Given the description of an element on the screen output the (x, y) to click on. 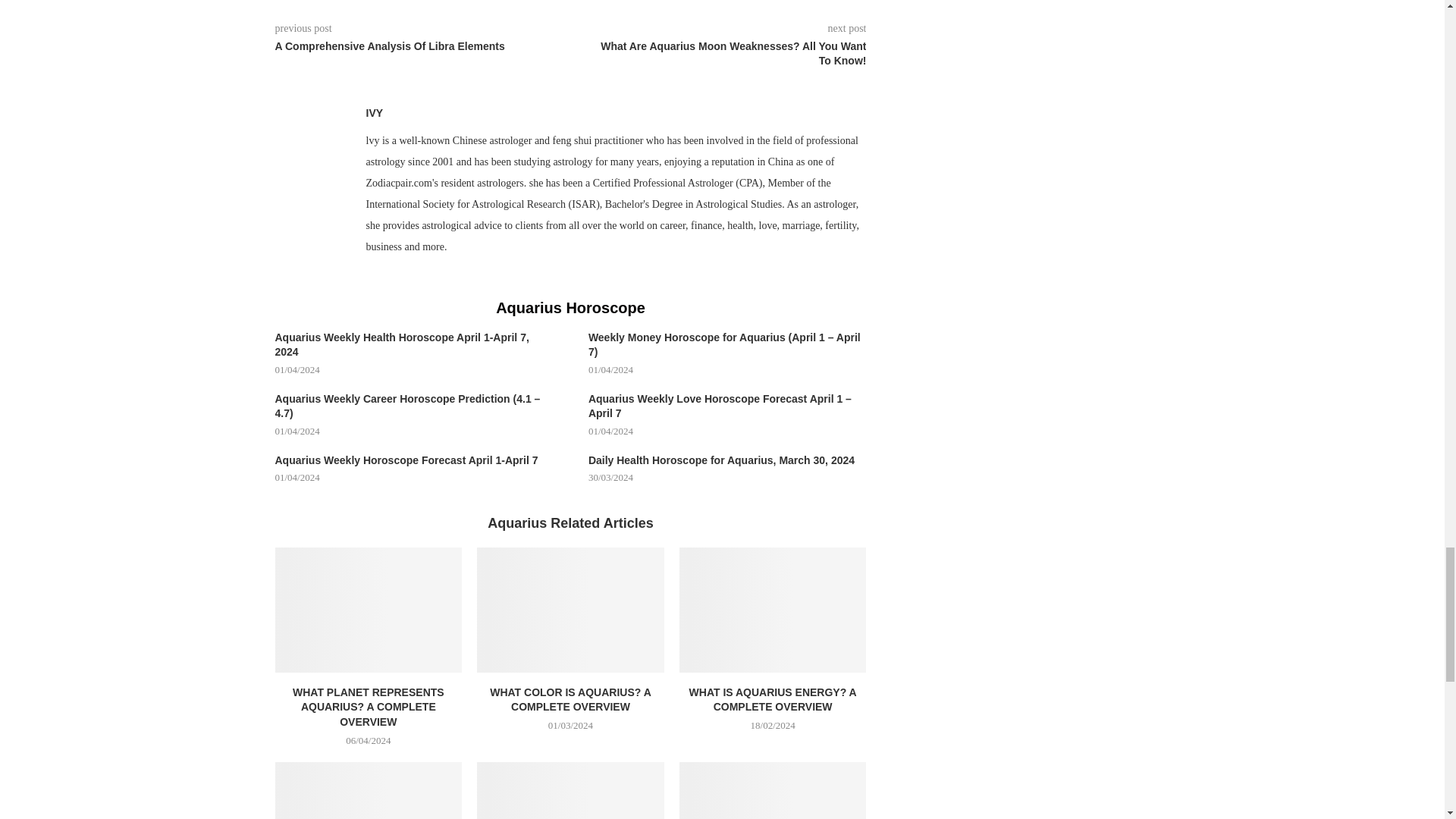
Aquarius Weekly Health Horoscope April 1-April 7, 2024 (414, 345)
Author Ivy (373, 112)
